Given the description of an element on the screen output the (x, y) to click on. 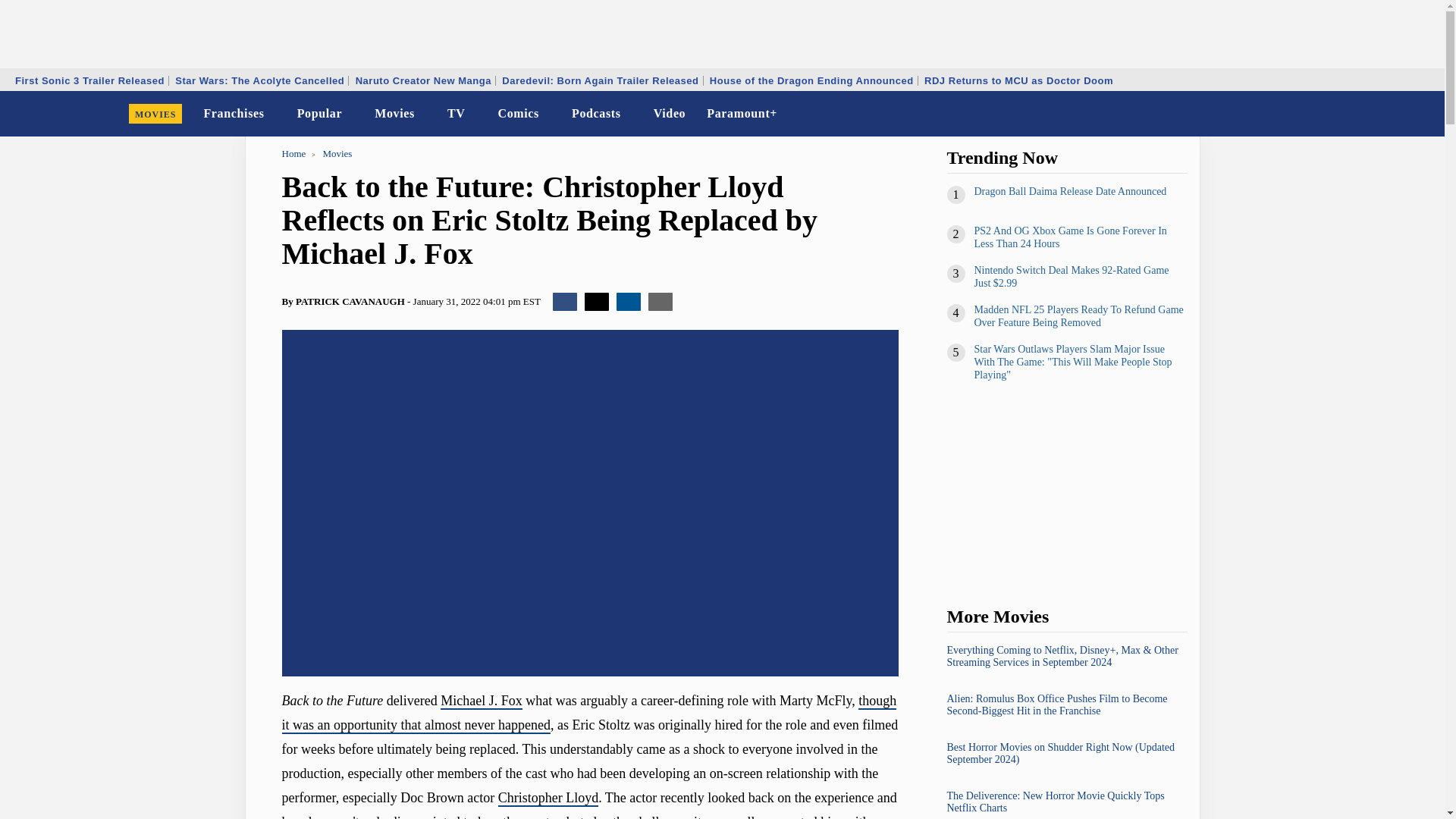
First Sonic 3 Trailer Released (89, 80)
Movies (394, 113)
MOVIES (155, 113)
Star Wars: The Acolyte Cancelled (259, 80)
Dark Mode (1394, 113)
House of the Dragon Ending Announced (811, 80)
Search (1422, 114)
Daredevil: Born Again Trailer Released (599, 80)
Naruto Creator New Manga (423, 80)
Popular (320, 113)
